Given the description of an element on the screen output the (x, y) to click on. 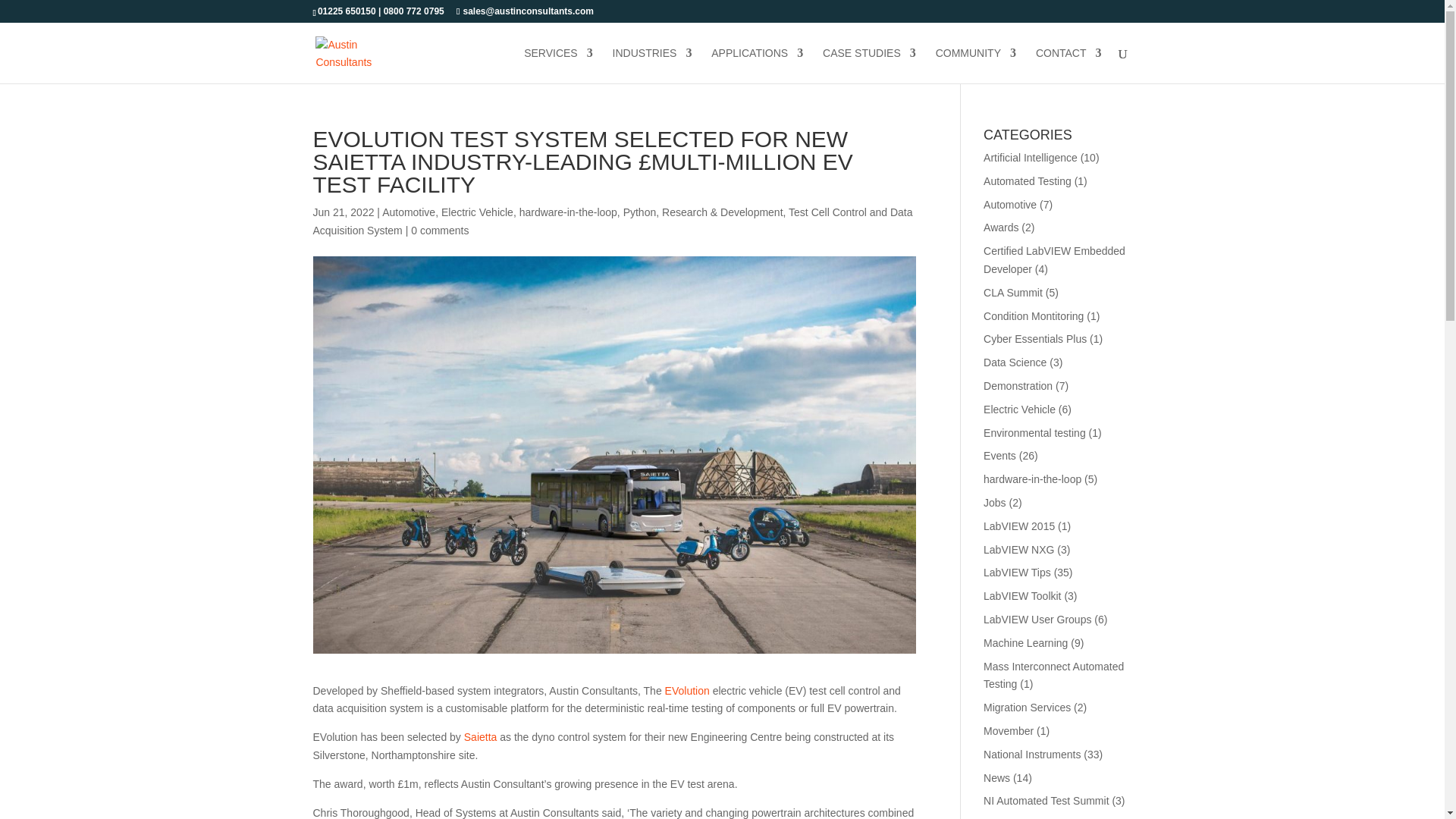
INDUSTRIES (652, 65)
APPLICATIONS (757, 65)
SERVICES (558, 65)
